Given the description of an element on the screen output the (x, y) to click on. 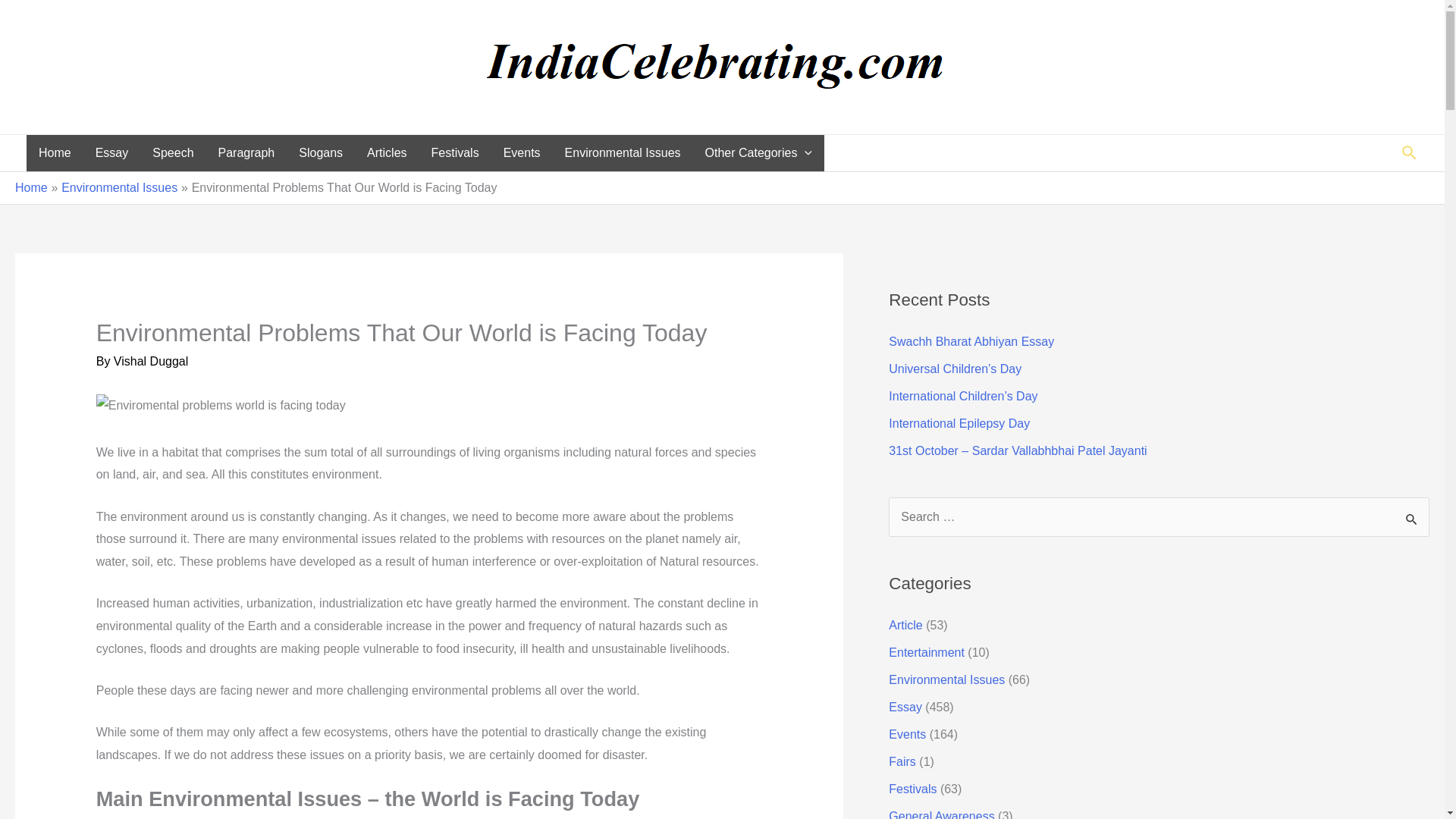
Vishal Duggal (150, 360)
Other Categories (758, 153)
Home (54, 153)
Articles (387, 153)
Home (31, 187)
Essay (111, 153)
Slogans (320, 153)
View all posts by Vishal Duggal (150, 360)
Environmental Issues (623, 153)
Speech (172, 153)
